Given the description of an element on the screen output the (x, y) to click on. 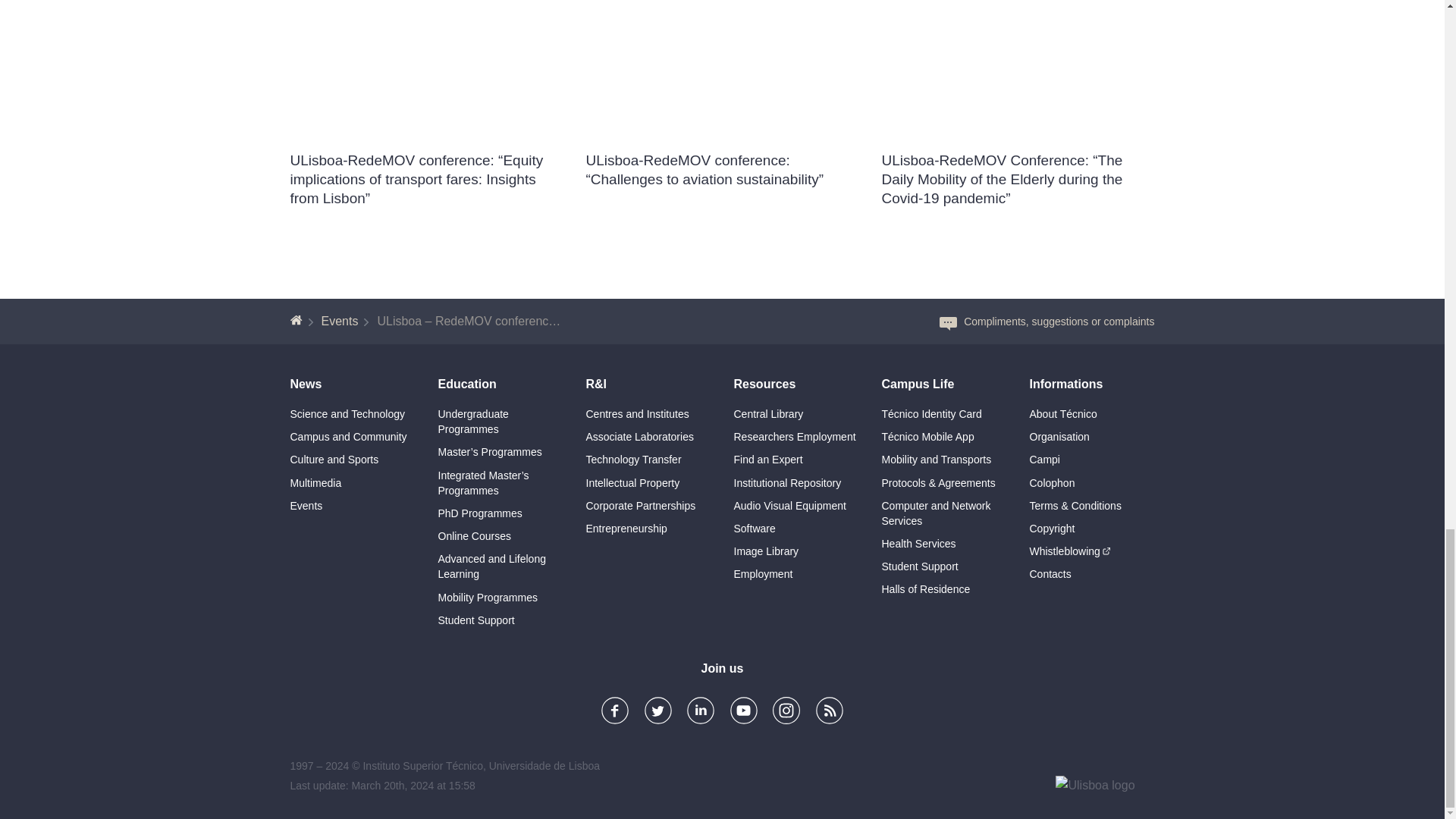
Follow us on Twitter (658, 709)
Follow us on Youtube (743, 709)
Follow us on Facebook (614, 712)
Follow us on Youtube (742, 712)
RSS News Feed (828, 712)
RSS News Feed (829, 709)
Follow us on Twitter (658, 712)
Follow us on Instagram (786, 712)
Follow us on Facebook (614, 709)
